Given the description of an element on the screen output the (x, y) to click on. 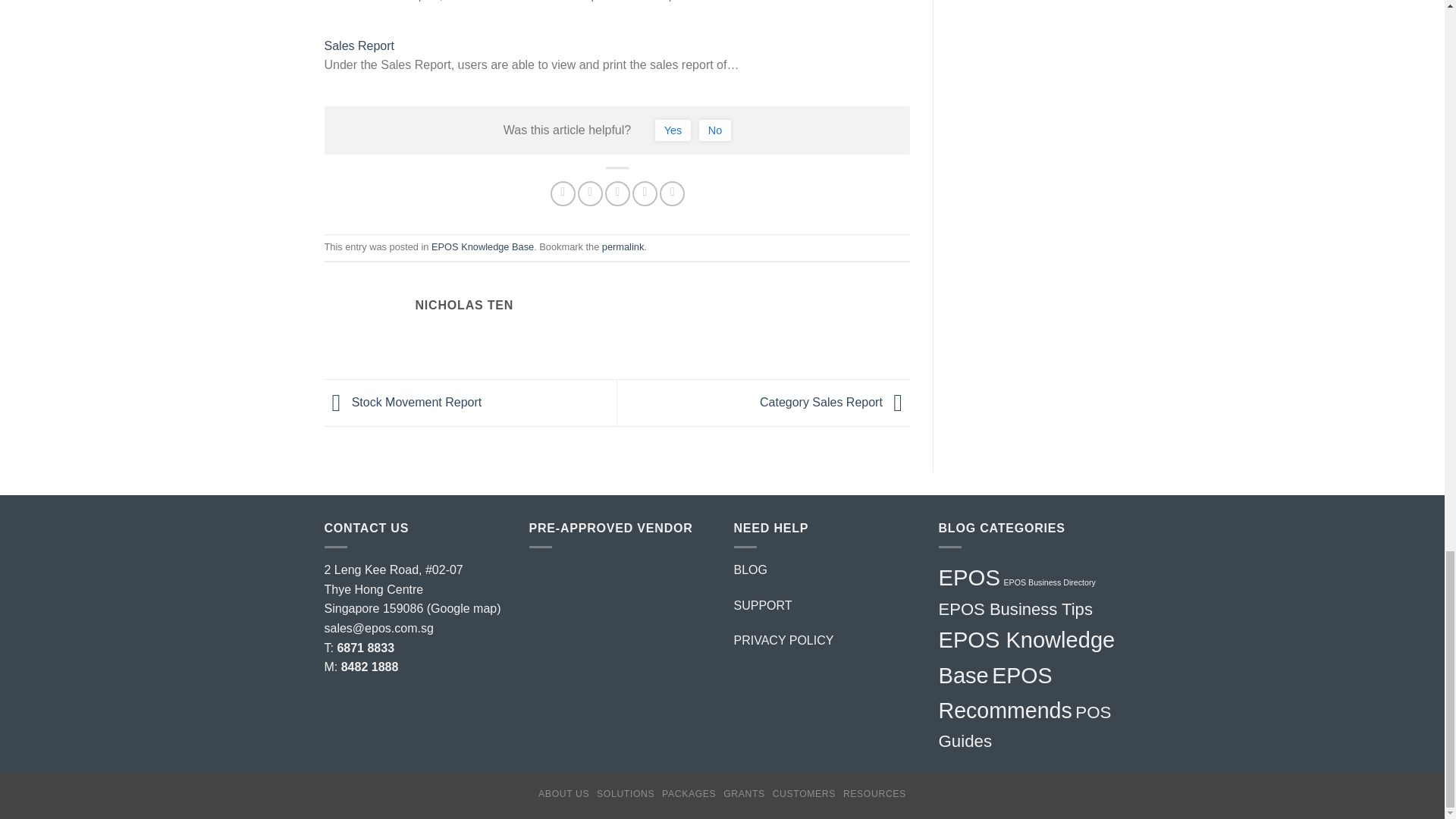
Permalink to Stocks Sale Report (622, 246)
Share on LinkedIn (671, 193)
Pin on Pinterest (644, 193)
Email to a Friend (617, 193)
Share on Facebook (562, 193)
Share on Twitter (590, 193)
